Given the description of an element on the screen output the (x, y) to click on. 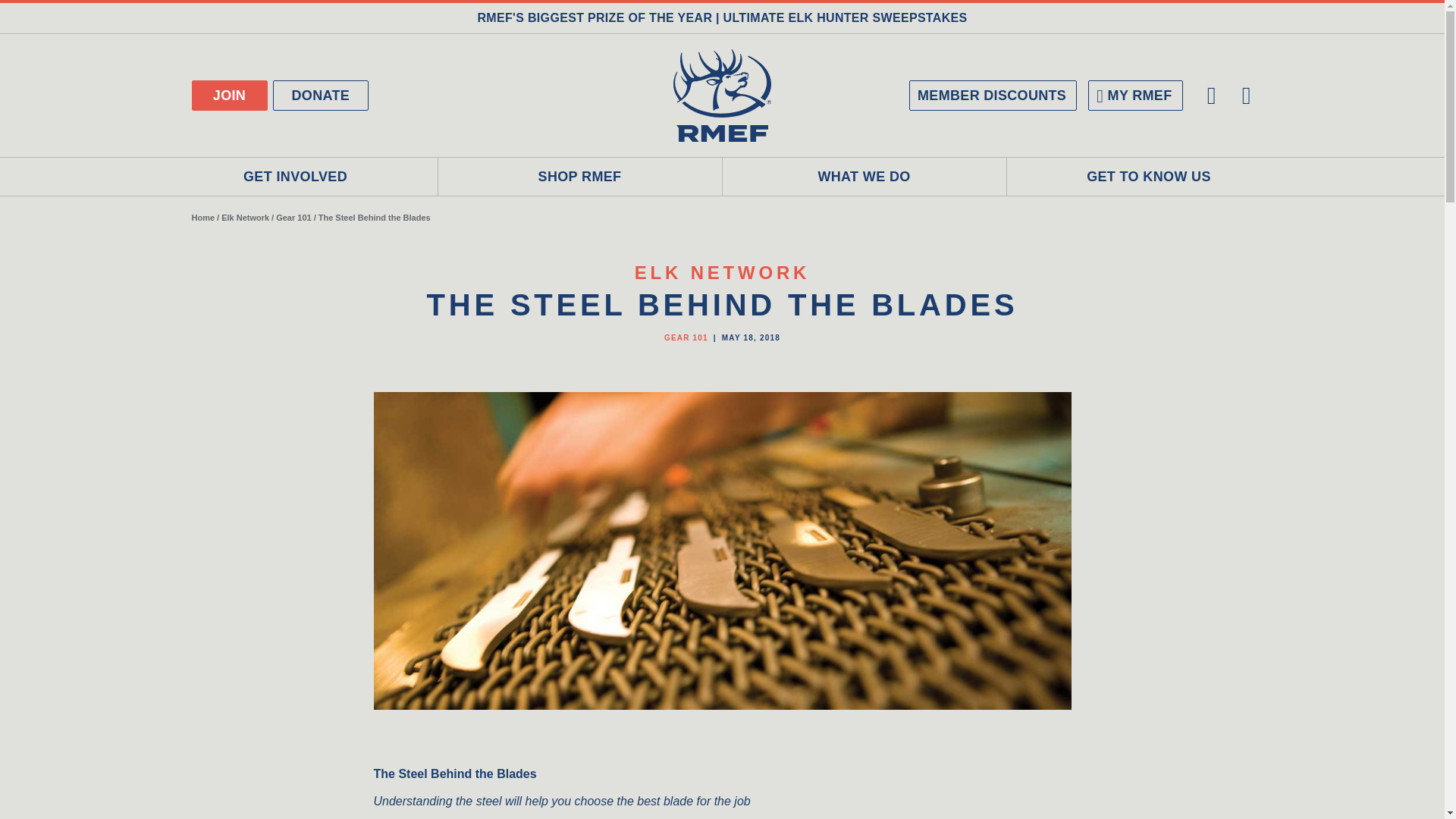
GET INVOLVED (295, 176)
GET TO KNOW US (1149, 176)
JOIN (228, 95)
WHAT WE DO (864, 176)
MY RMEF (1134, 95)
DONATE (321, 95)
MEMBER DISCOUNTS (992, 95)
SHOP RMEF (580, 176)
